Given the description of an element on the screen output the (x, y) to click on. 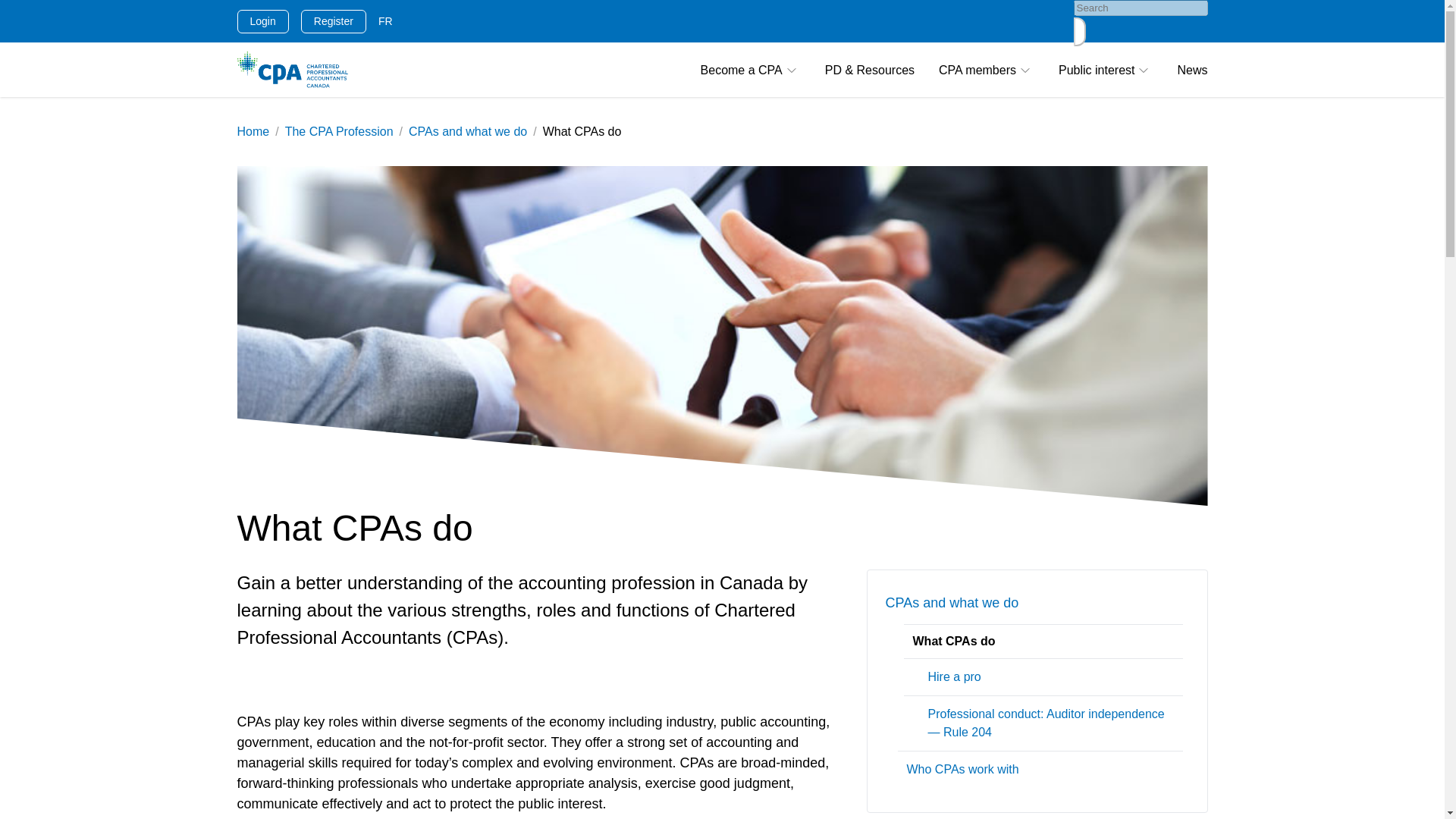
Skip To Main Content (11, 11)
Register (333, 20)
Who CPAs work with (1040, 769)
Become a CPA (750, 69)
CPA (291, 69)
FR (385, 21)
Login (261, 20)
Public interest (1105, 69)
Home (252, 131)
Hire a pro (1043, 676)
